Given the description of an element on the screen output the (x, y) to click on. 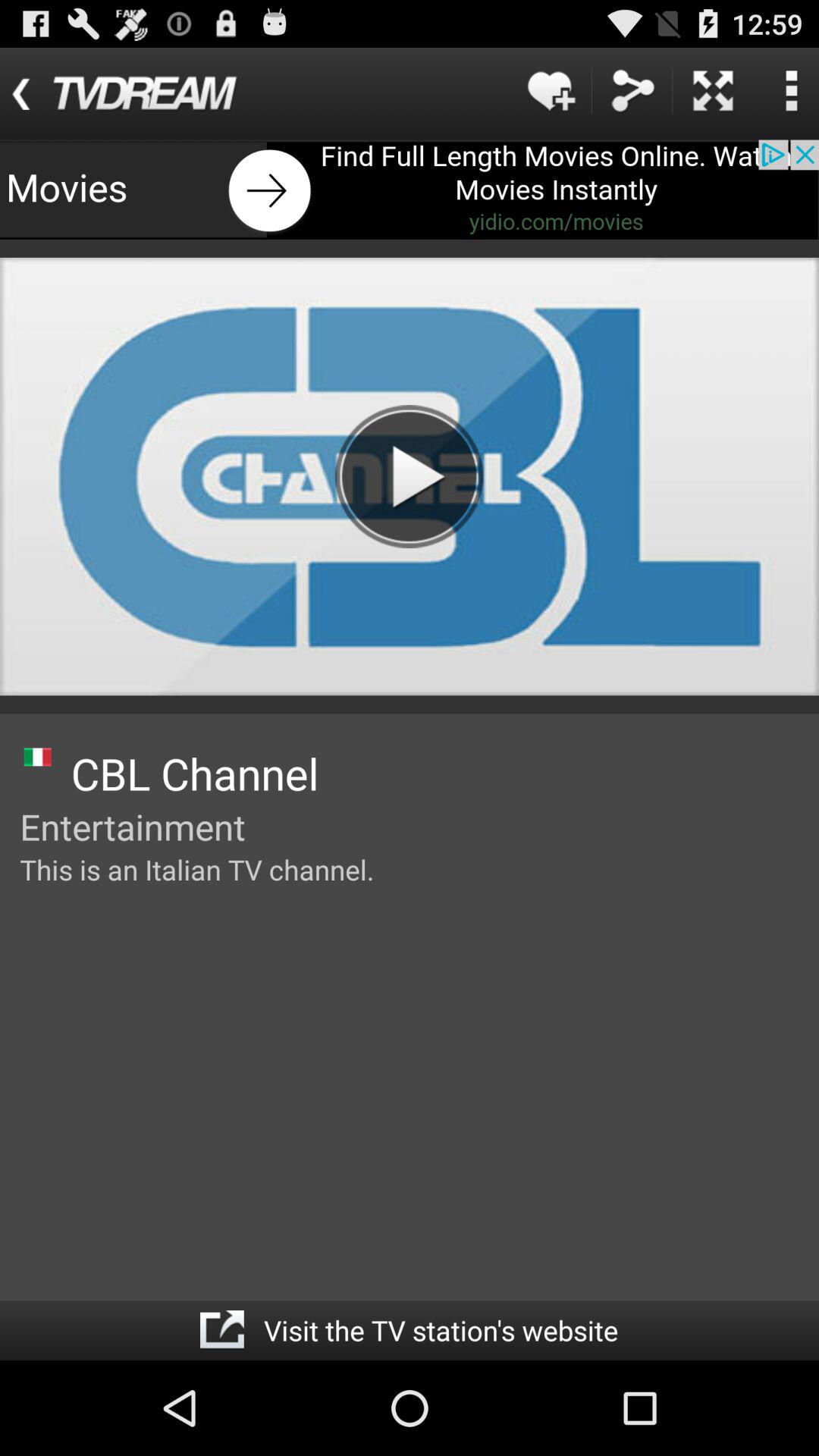
go to tv station 's website (221, 1330)
